Given the description of an element on the screen output the (x, y) to click on. 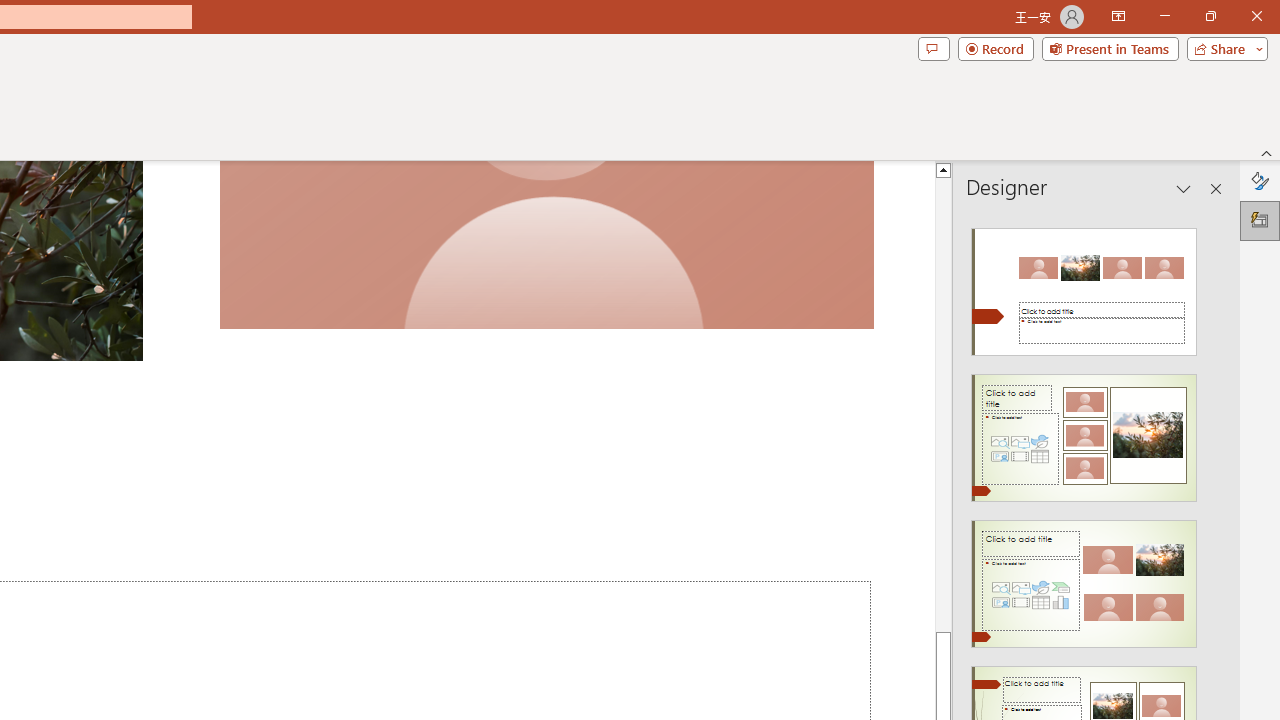
Camera 7, No camera detected. (546, 245)
Format Background (1260, 180)
